Given the description of an element on the screen output the (x, y) to click on. 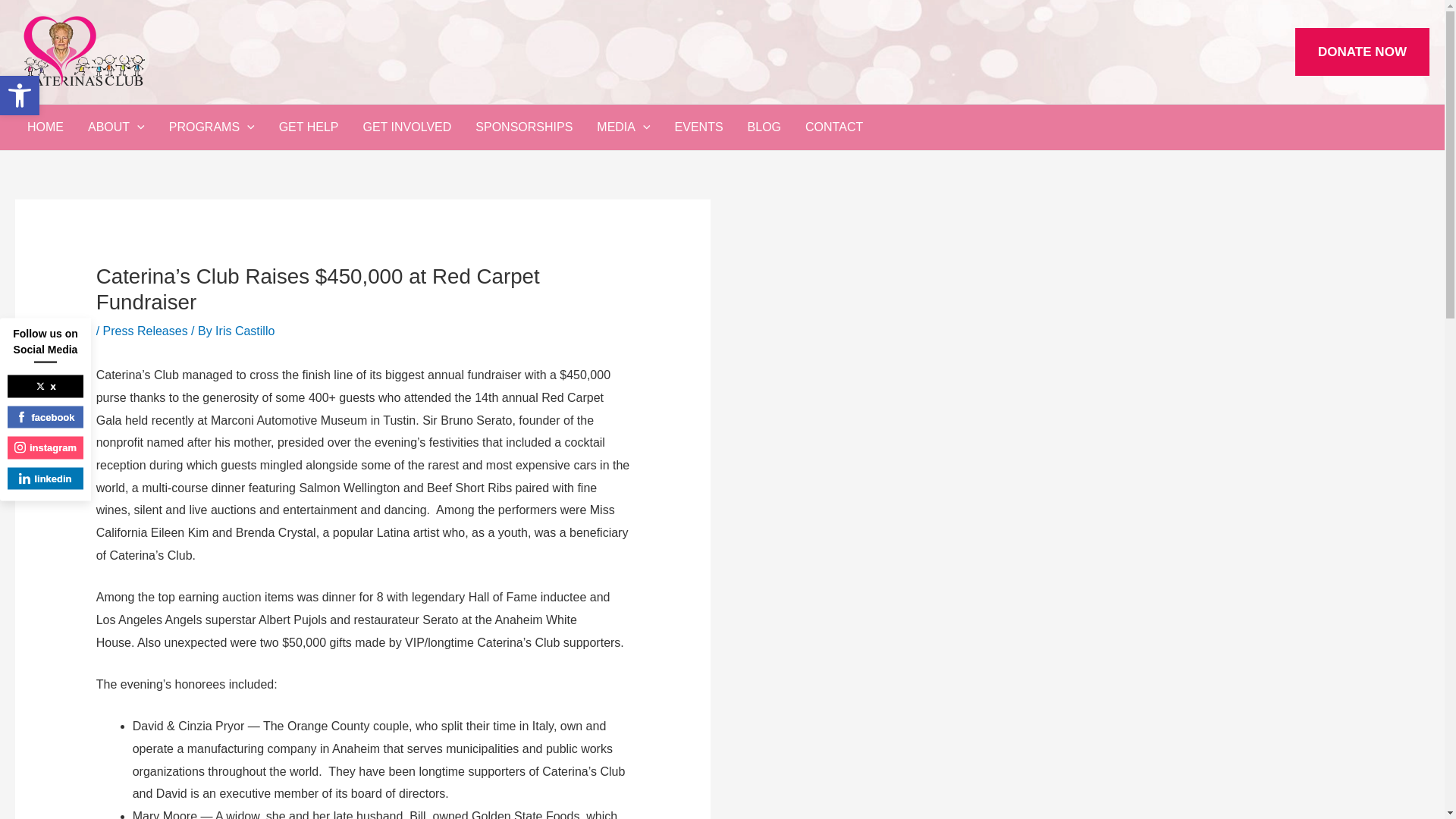
GET HELP (308, 126)
ABOUT (116, 126)
HOME (44, 126)
BLOG (764, 126)
DONATE NOW (1362, 51)
SPONSORSHIPS (19, 95)
Accessibility Tools (524, 126)
GET INVOLVED (19, 95)
Accessibility Tools (406, 126)
MEDIA (19, 95)
View all posts by Iris Castillo (623, 126)
PROGRAMS (245, 330)
CONTACT (211, 126)
EVENTS (834, 126)
